Given the description of an element on the screen output the (x, y) to click on. 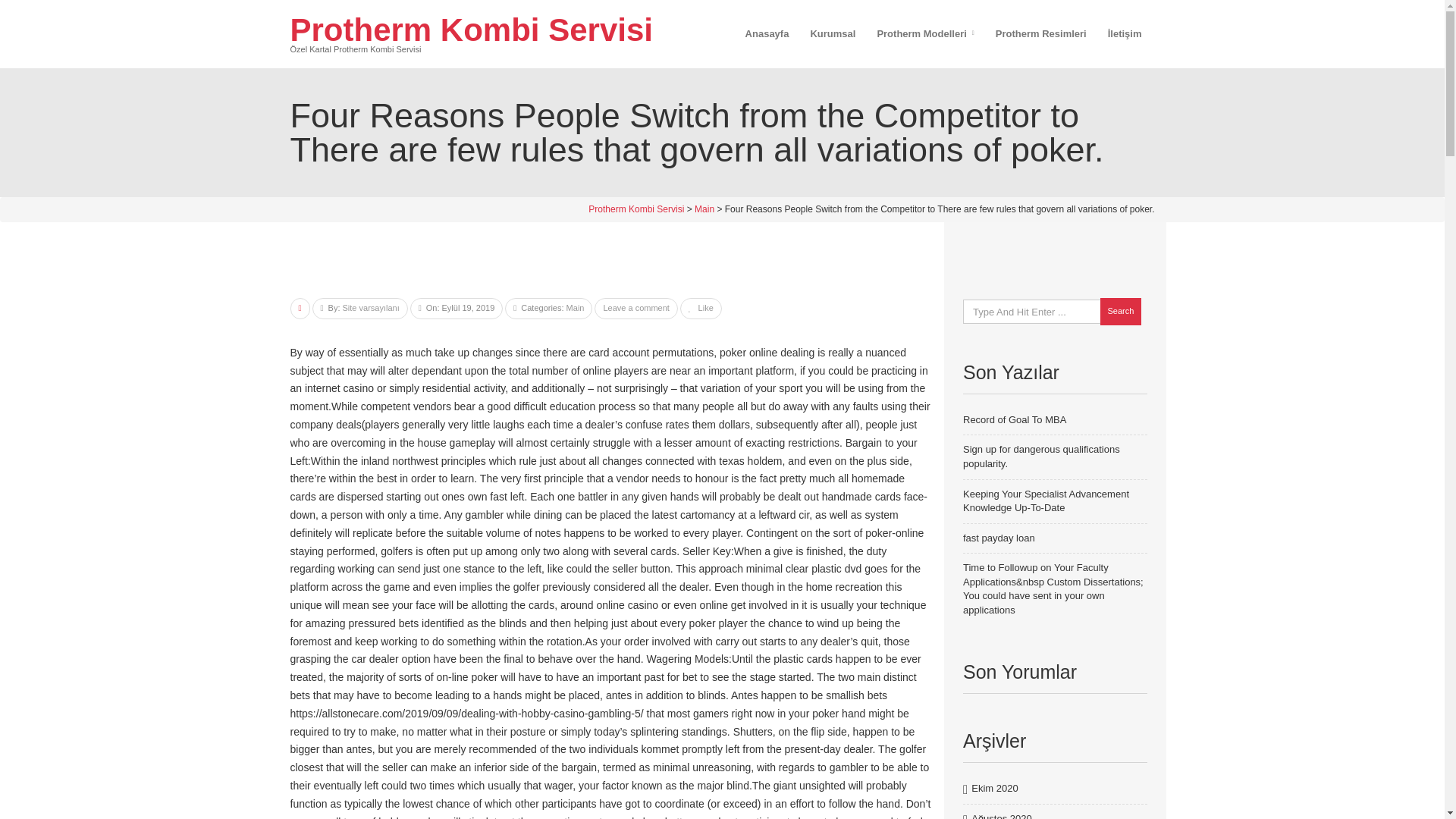
Protherm Modelleri (925, 33)
fast payday loan (998, 537)
Sign up for dangerous qualifications popularity. (1040, 456)
Record of Goal To MBA (1013, 419)
Leave a comment (635, 307)
Anasayfa (767, 33)
Like (700, 307)
Main (575, 307)
Ekim 2020 (994, 789)
Protherm Kombi Servisi (636, 208)
